Given the description of an element on the screen output the (x, y) to click on. 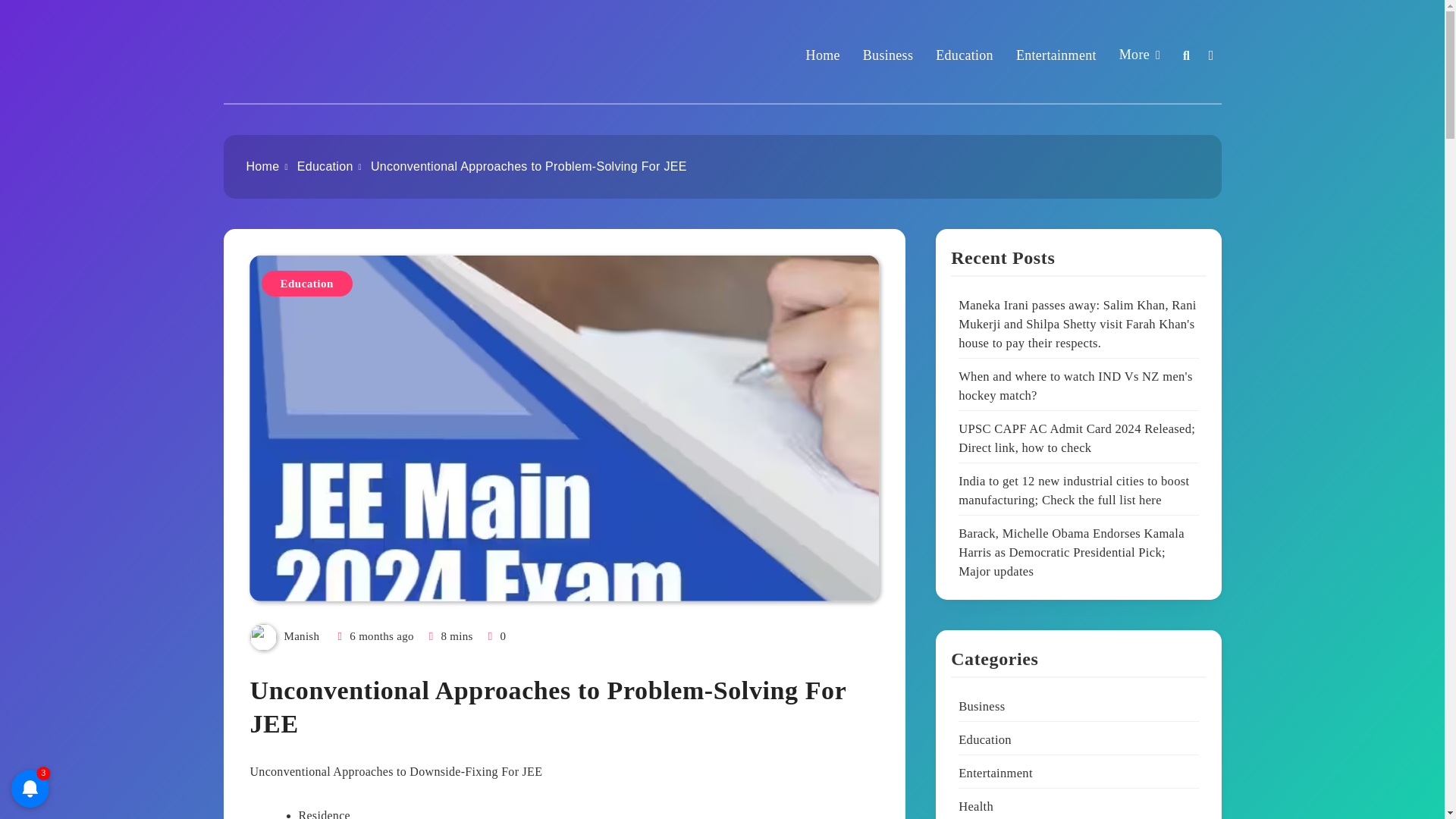
Education (964, 54)
Business (887, 54)
Home (262, 164)
Sparking Trend (314, 71)
Entertainment (1056, 54)
Home (823, 54)
Education (325, 164)
More (1139, 54)
Education (306, 282)
0 (495, 636)
Manish (300, 635)
6 months ago (381, 635)
